Given the description of an element on the screen output the (x, y) to click on. 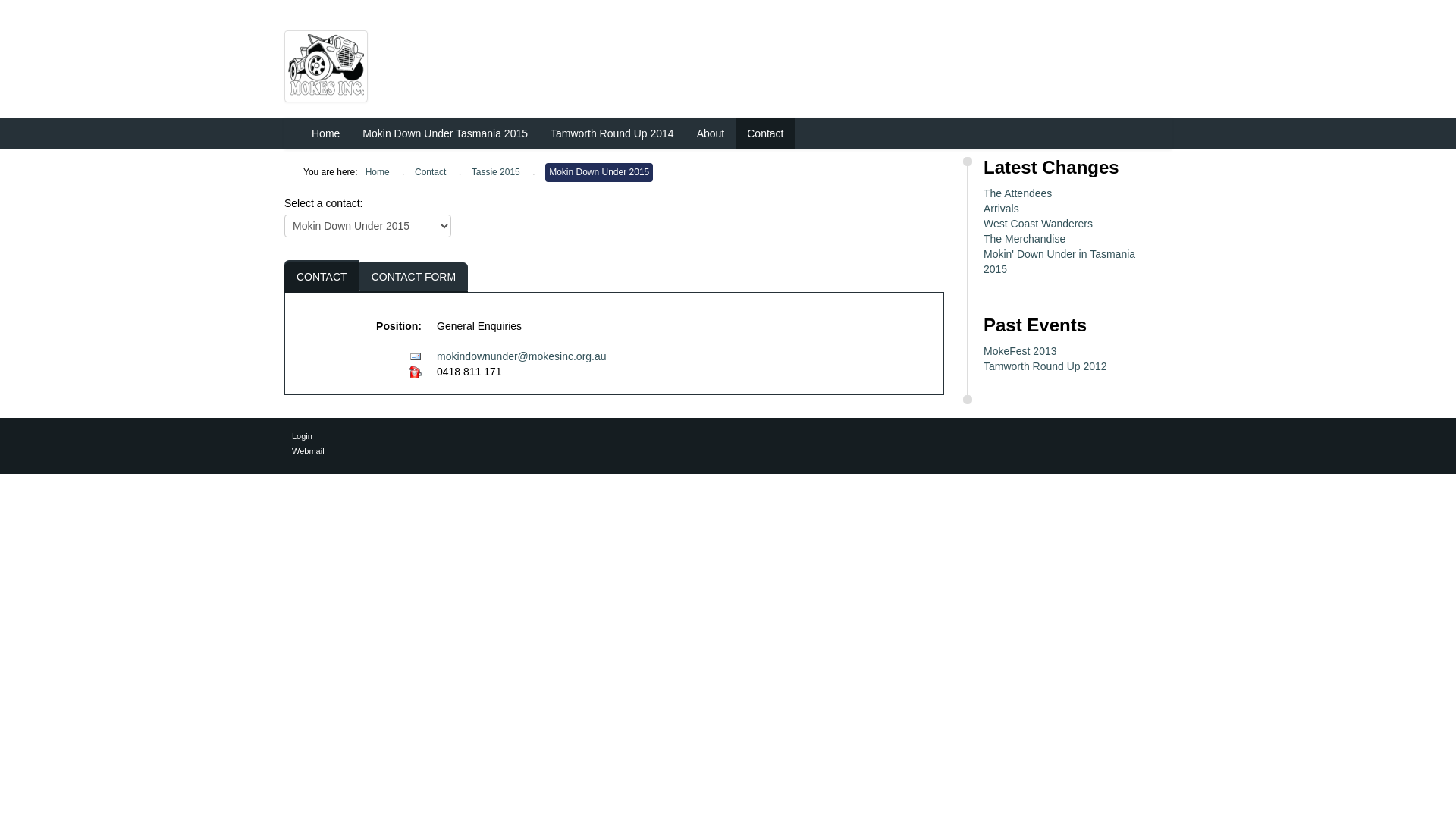
Login Element type: text (727, 435)
Home Element type: text (325, 133)
The Attendees Element type: text (1069, 192)
Tassie 2015 Element type: text (495, 172)
Contact Element type: text (764, 133)
mokindownunder@mokesinc.org.au Element type: text (521, 356)
Contact Element type: text (429, 172)
The Merchandise Element type: text (1069, 238)
Mokin Down Under Tasmania 2015 Element type: text (445, 133)
Tamworth Round Up 2012 Element type: text (1069, 365)
Webmail Element type: text (727, 450)
CONTACT Element type: text (321, 276)
MokeFest 2013 Element type: text (1069, 350)
Mokin' Down Under in Tasmania 2015 Element type: text (1069, 261)
Arrivals Element type: text (1069, 208)
West Coast Wanderers Element type: text (1069, 223)
CONTACT FORM Element type: text (413, 276)
Tamworth Round Up 2014 Element type: text (612, 133)
Home Element type: text (377, 172)
About Element type: text (710, 133)
